Given the description of an element on the screen output the (x, y) to click on. 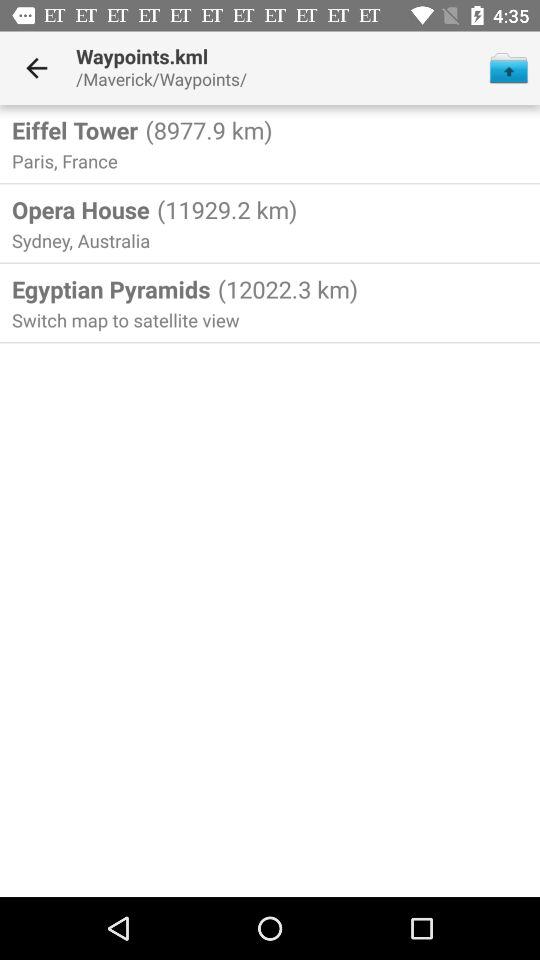
choose the icon to the left of the waypoints.kml (36, 68)
